Given the description of an element on the screen output the (x, y) to click on. 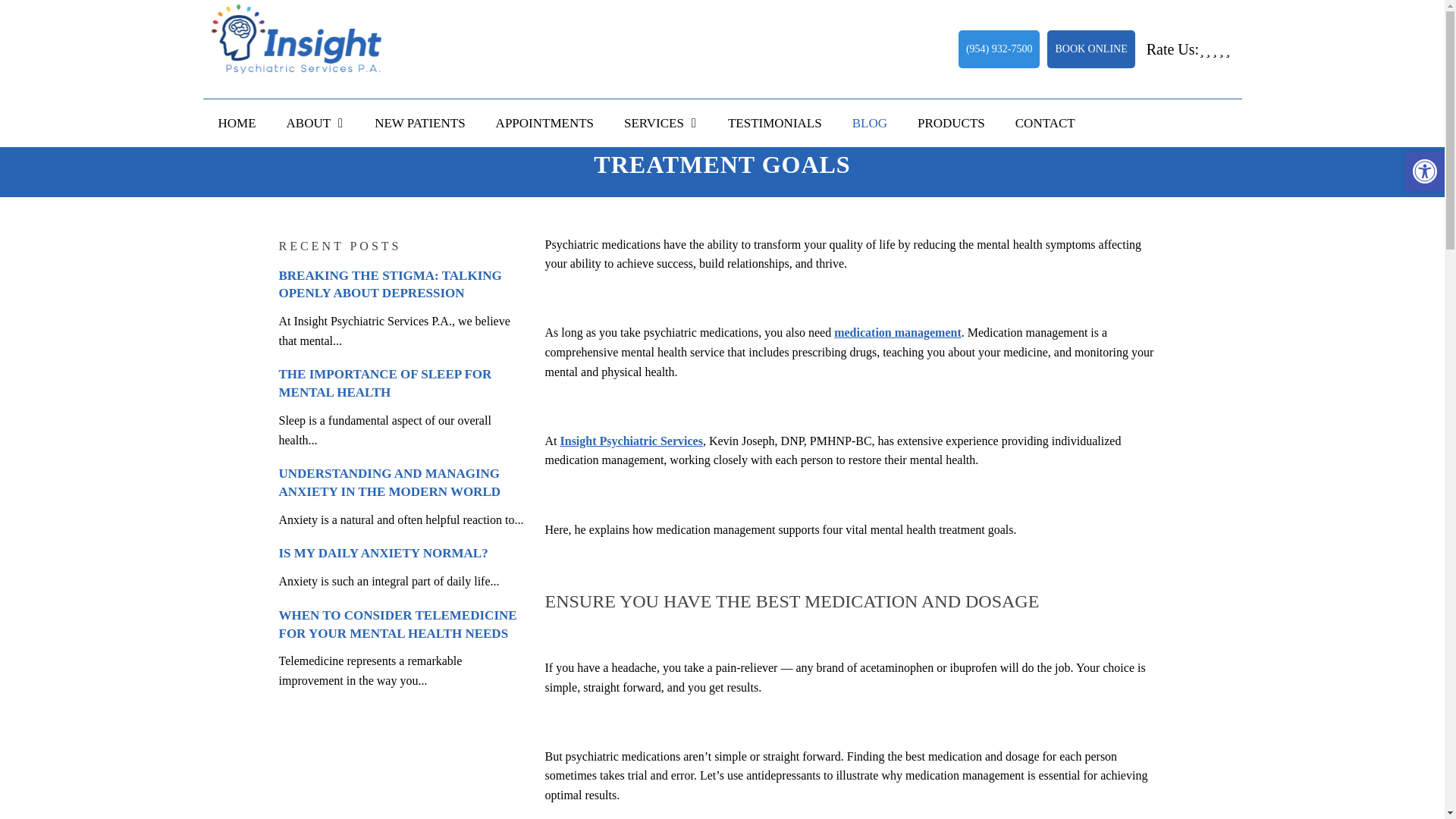
SERVICES (660, 123)
PRODUCTS (951, 123)
TESTIMONIALS (775, 123)
APPOINTMENTS (544, 123)
BREAKING THE STIGMA: TALKING OPENLY ABOUT DEPRESSION (390, 284)
NEW PATIENTS (419, 123)
HOME (236, 123)
CONTACT (1045, 123)
ABOUT (314, 123)
medication management (897, 332)
